Given the description of an element on the screen output the (x, y) to click on. 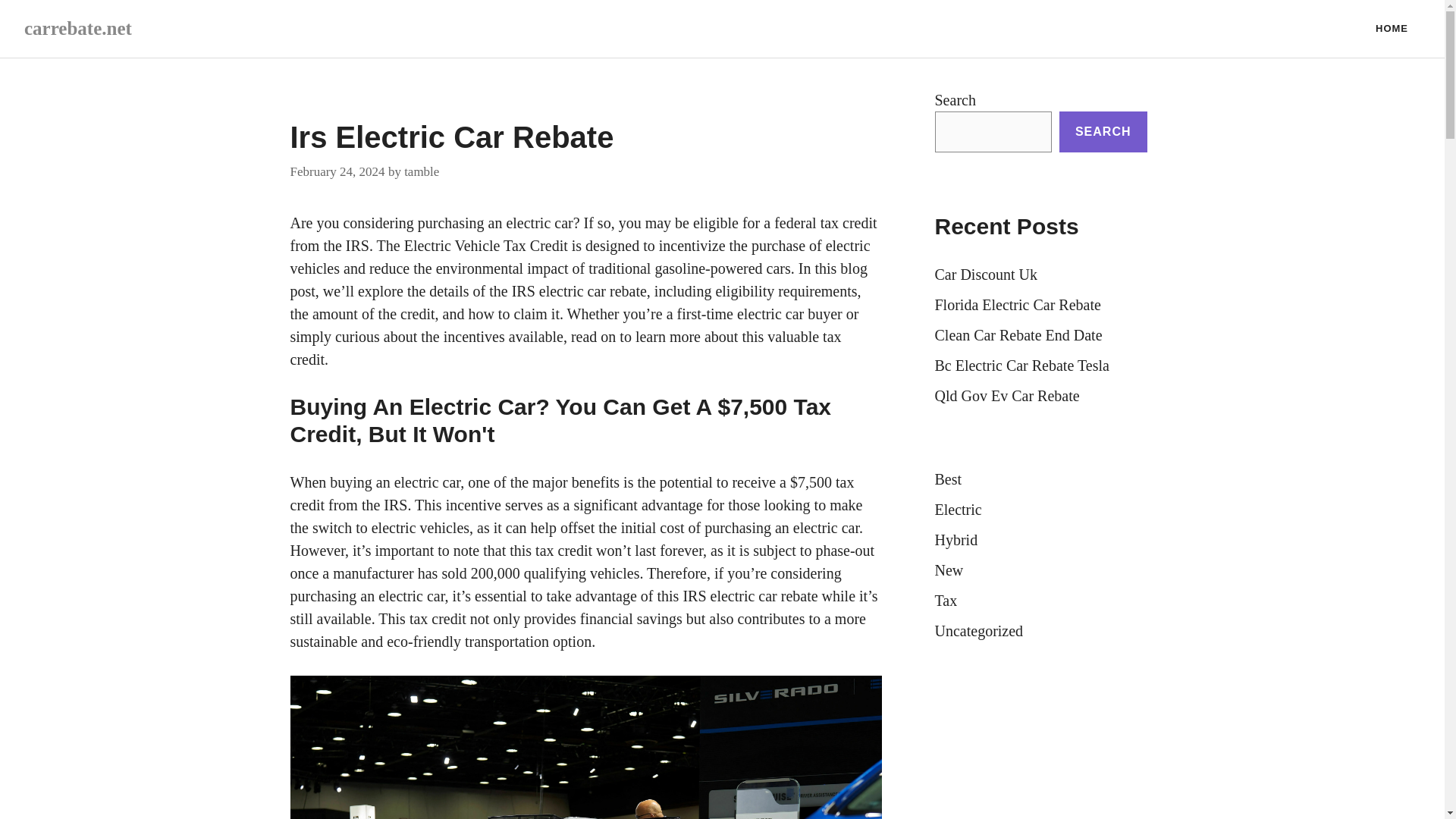
tamble (421, 170)
Hybrid (955, 539)
Electric (957, 509)
Uncategorized (978, 630)
Bc Electric Car Rebate Tesla (1021, 365)
Tax (945, 600)
Clean Car Rebate End Date (1018, 334)
Florida Electric Car Rebate (1017, 304)
HOME (1391, 28)
View all posts by tamble (421, 170)
